Given the description of an element on the screen output the (x, y) to click on. 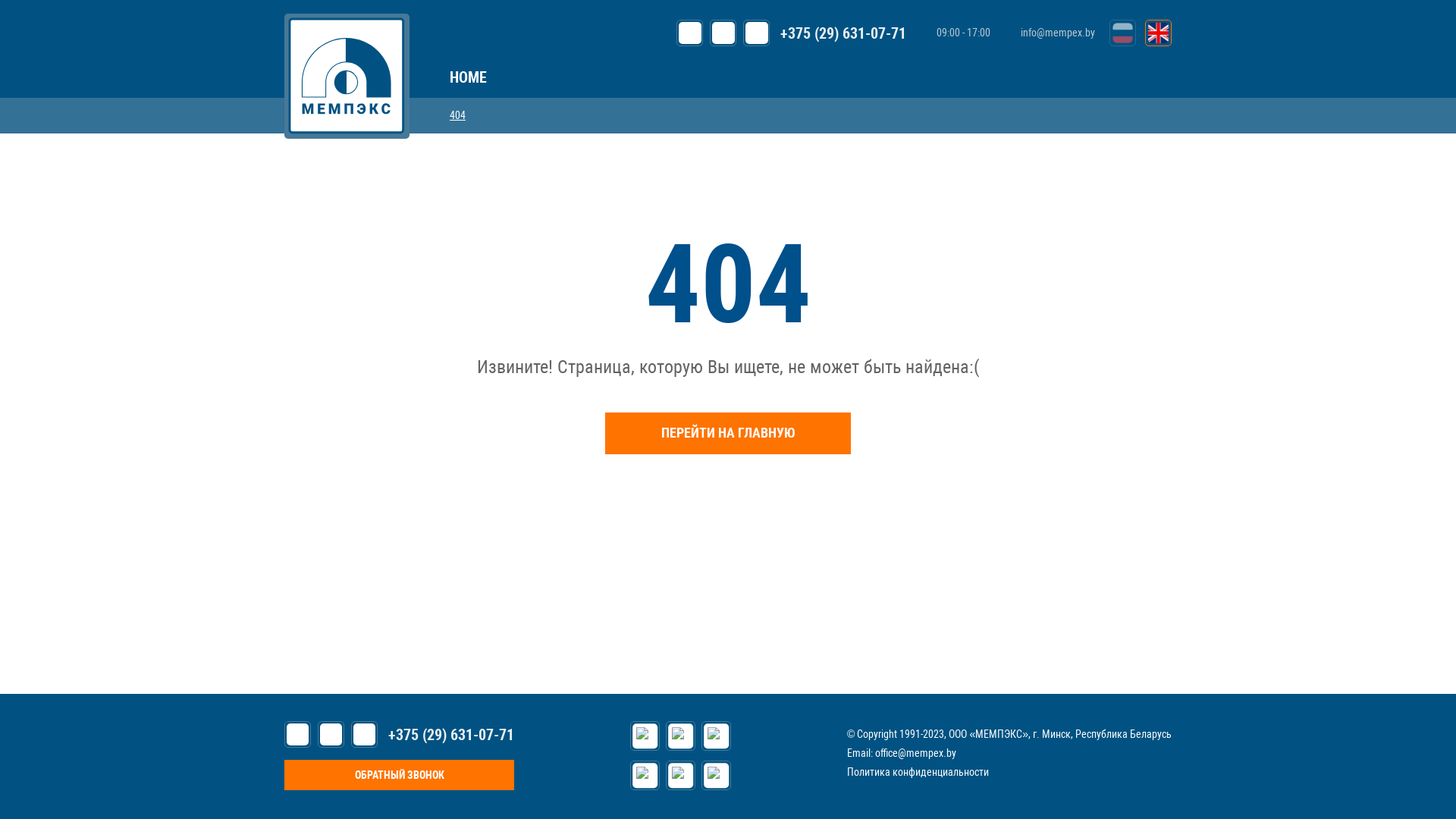
office@mempex.by Element type: text (915, 752)
LinkedIn Element type: hover (680, 775)
Telegram Element type: hover (756, 32)
Instagram Element type: hover (716, 775)
info@mempex.by Element type: text (1049, 32)
Viber Element type: hover (689, 32)
WhatsApp Element type: hover (722, 32)
RuTube Element type: hover (644, 735)
+375 (29) 631-07-71 Element type: text (451, 733)
YouTube Element type: hover (644, 775)
+375 (29) 631-07-71 Element type: text (843, 32)
HOME Element type: text (468, 76)
